Given the description of an element on the screen output the (x, y) to click on. 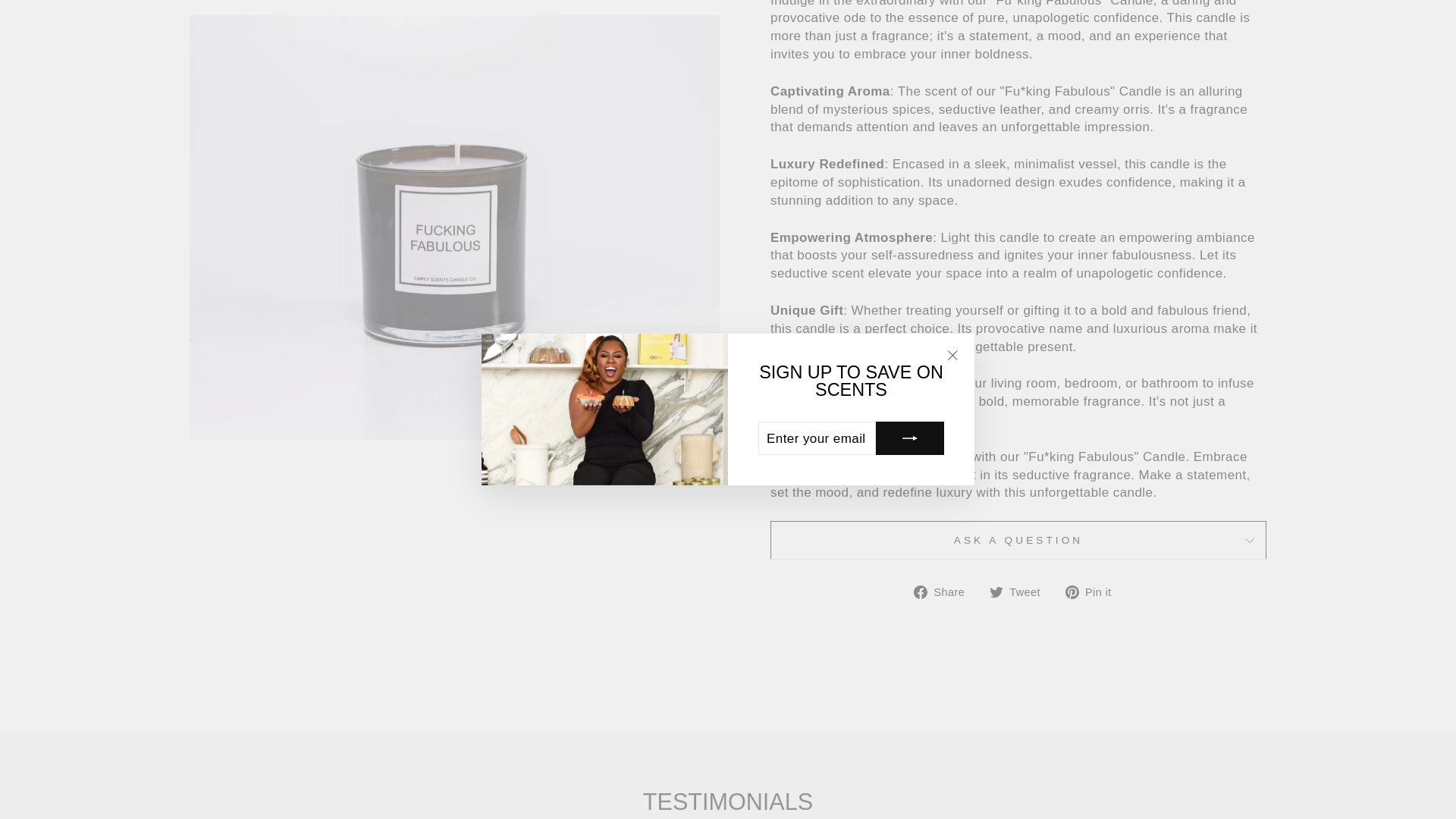
twitter (996, 591)
Tweet on Twitter (1020, 591)
